Given the description of an element on the screen output the (x, y) to click on. 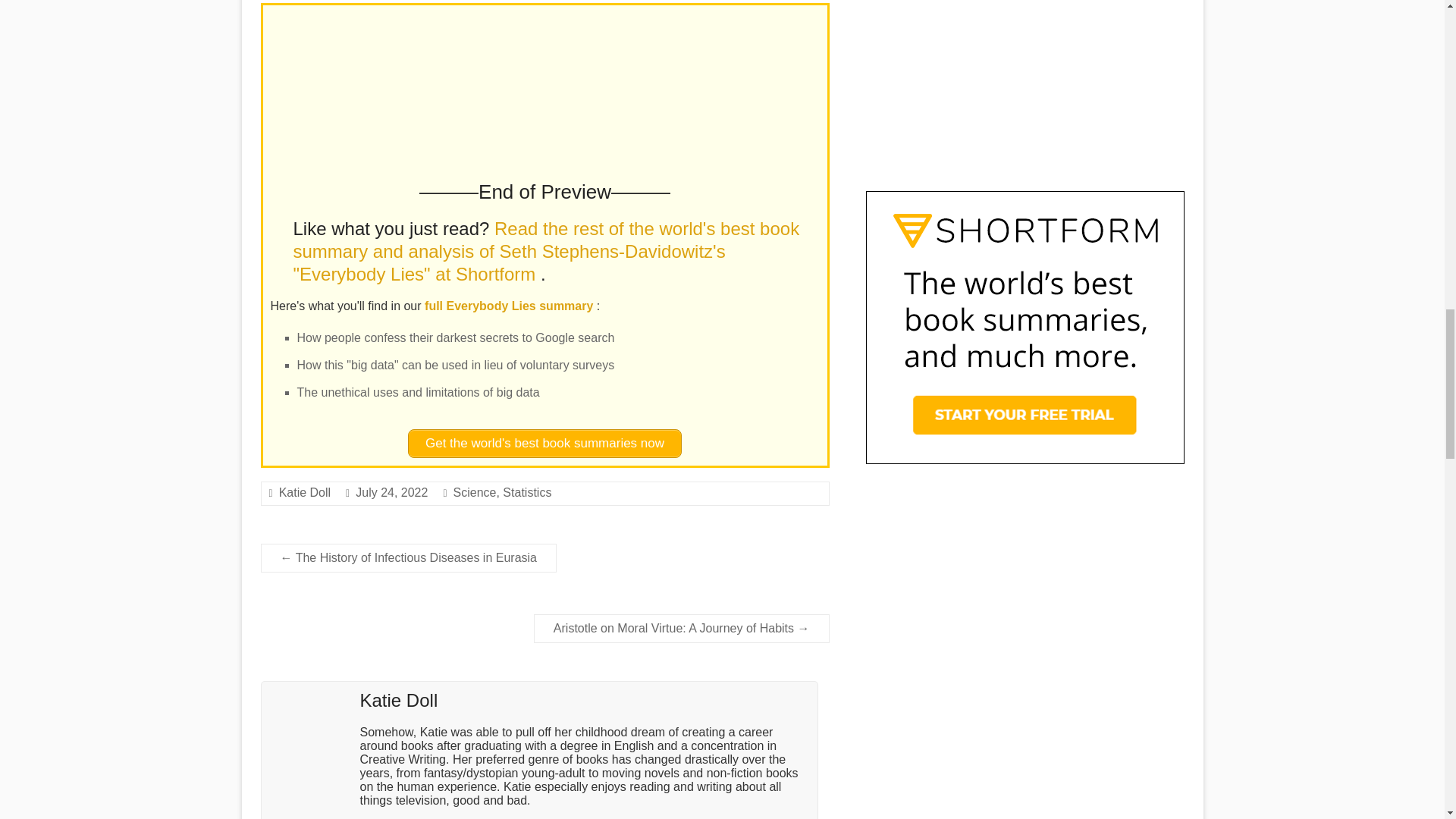
Katie Doll (304, 492)
Statistics (526, 492)
Science (474, 492)
2:26 pm (391, 492)
Get the world's best book summaries now (544, 443)
full Everybody Lies summary (510, 305)
July 24, 2022 (391, 492)
